Given the description of an element on the screen output the (x, y) to click on. 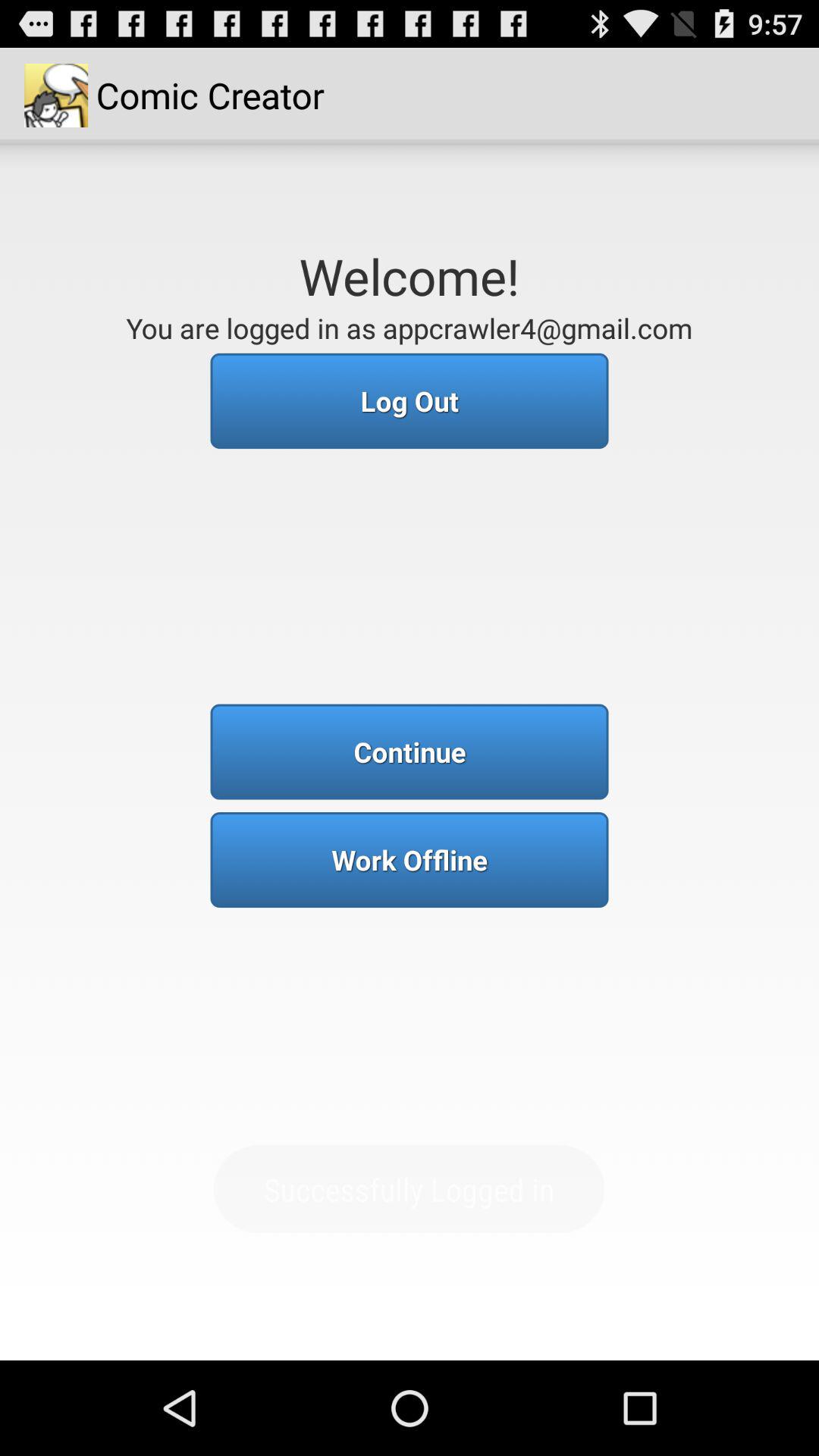
scroll to the continue icon (409, 751)
